Given the description of an element on the screen output the (x, y) to click on. 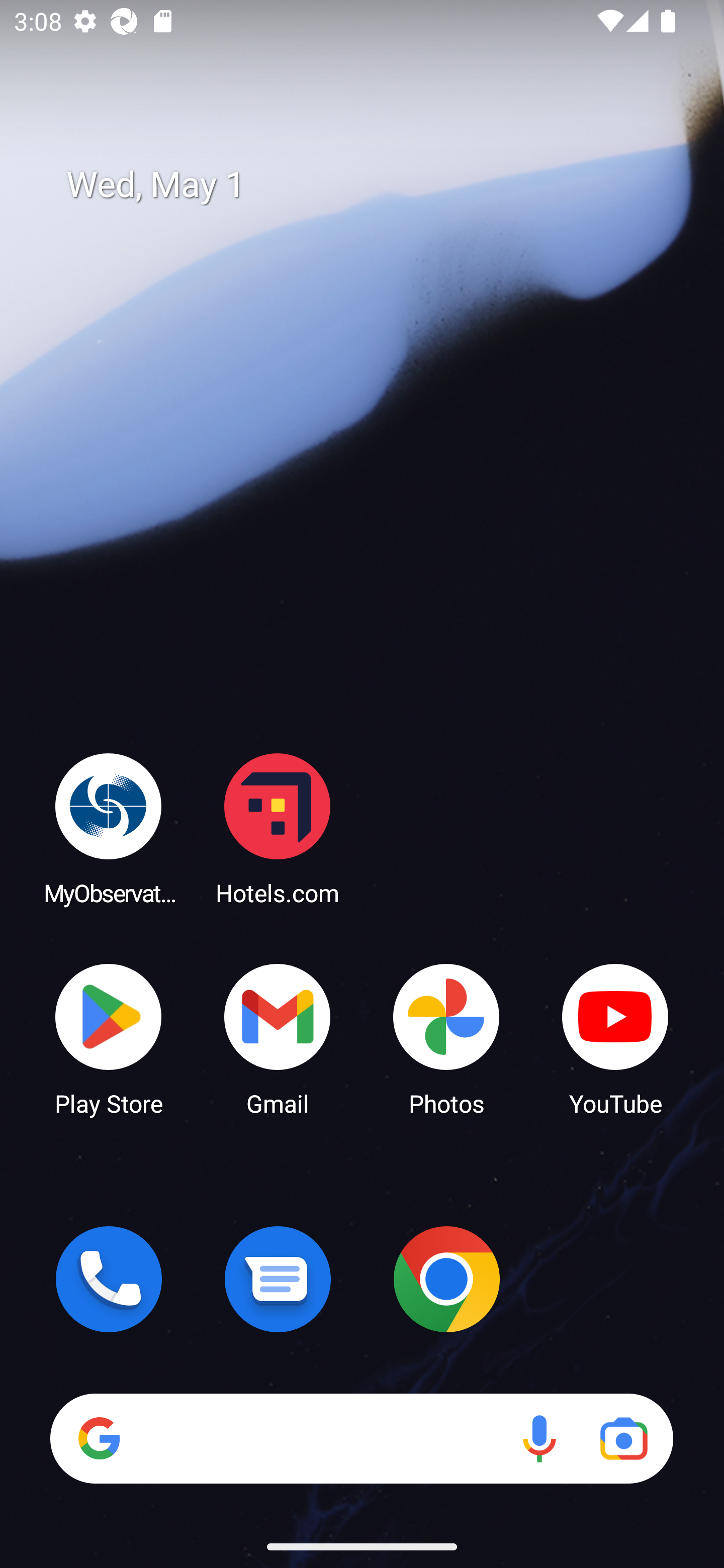
Wed, May 1 (375, 184)
MyObservatory (108, 828)
Hotels.com (277, 828)
Play Store (108, 1038)
Gmail (277, 1038)
Photos (445, 1038)
YouTube (615, 1038)
Phone (108, 1279)
Messages (277, 1279)
Chrome (446, 1279)
Search Voice search Google Lens (361, 1438)
Voice search (539, 1438)
Google Lens (623, 1438)
